Given the description of an element on the screen output the (x, y) to click on. 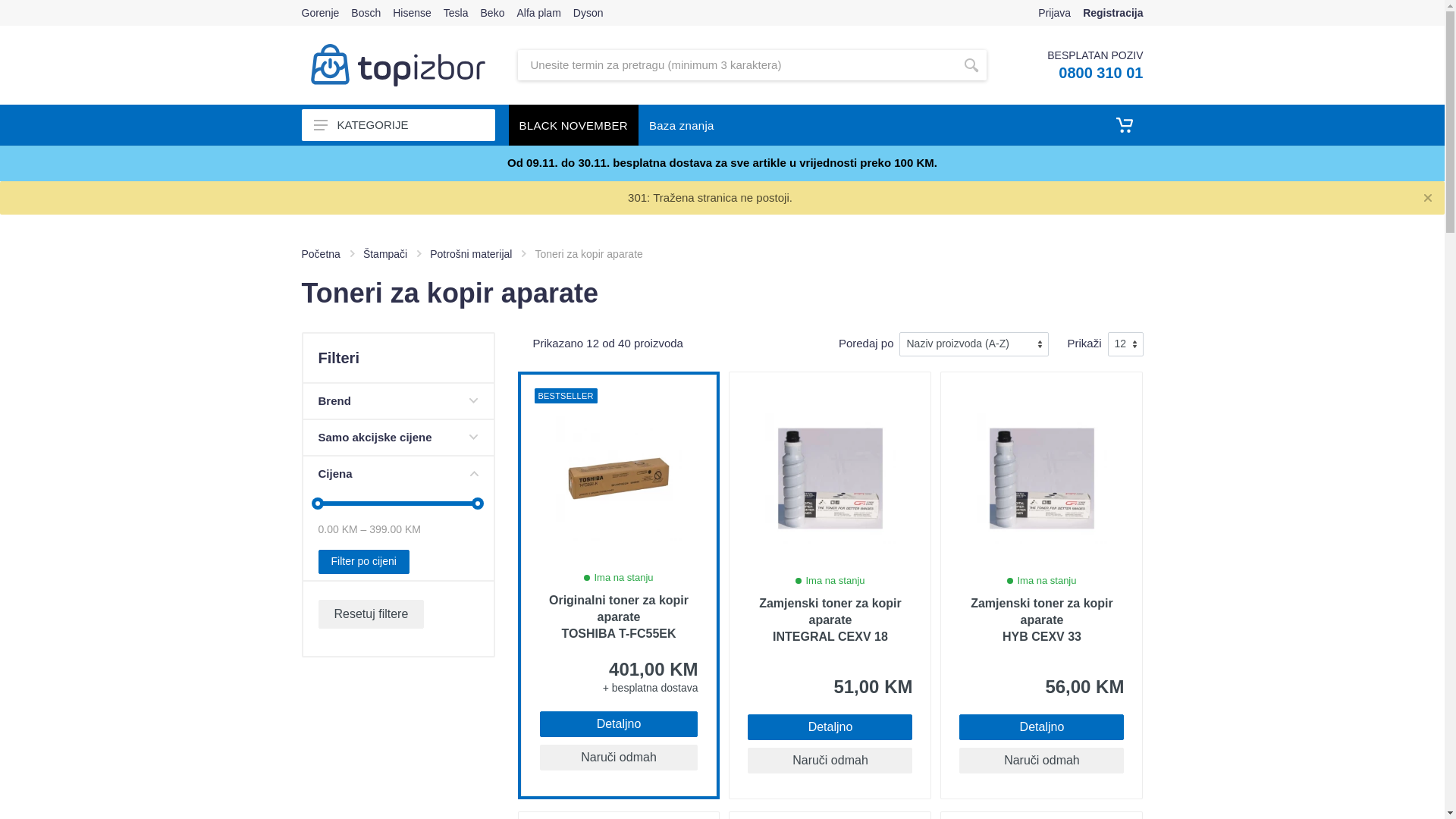
Detaljno Element type: text (829, 727)
Registracija Element type: text (1112, 12)
BLACK NOVEMBER Element type: text (572, 124)
Prijava Element type: text (1054, 12)
Gorenje Element type: text (320, 12)
Detaljno Element type: text (618, 724)
Zamjenski toner za kopir aparate
HYB CEXV 33 Element type: text (1041, 620)
Top izbor Element type: hover (398, 64)
Brend Element type: text (398, 400)
Alfa plam Element type: text (538, 12)
Dyson Element type: text (588, 12)
Filter po cijeni Element type: text (363, 561)
Resetuj filtere Element type: text (371, 613)
Beko Element type: text (492, 12)
Samo akcijske cijene Element type: text (398, 437)
Originalni toner za kopir aparate
TOSHIBA T-FC55EK Element type: text (619, 617)
Zamjenski toner za kopir aparate
INTEGRAL CEXV 18 Element type: text (829, 620)
Korpa Element type: hover (1124, 124)
KATEGORIJE Element type: text (398, 125)
Bosch Element type: text (365, 12)
0800 310 01 Element type: text (1100, 72)
Tesla Element type: text (455, 12)
Hisense Element type: text (411, 12)
Baza znanja Element type: text (681, 124)
Detaljno Element type: text (1041, 727)
Cijena Element type: text (398, 473)
